Given the description of an element on the screen output the (x, y) to click on. 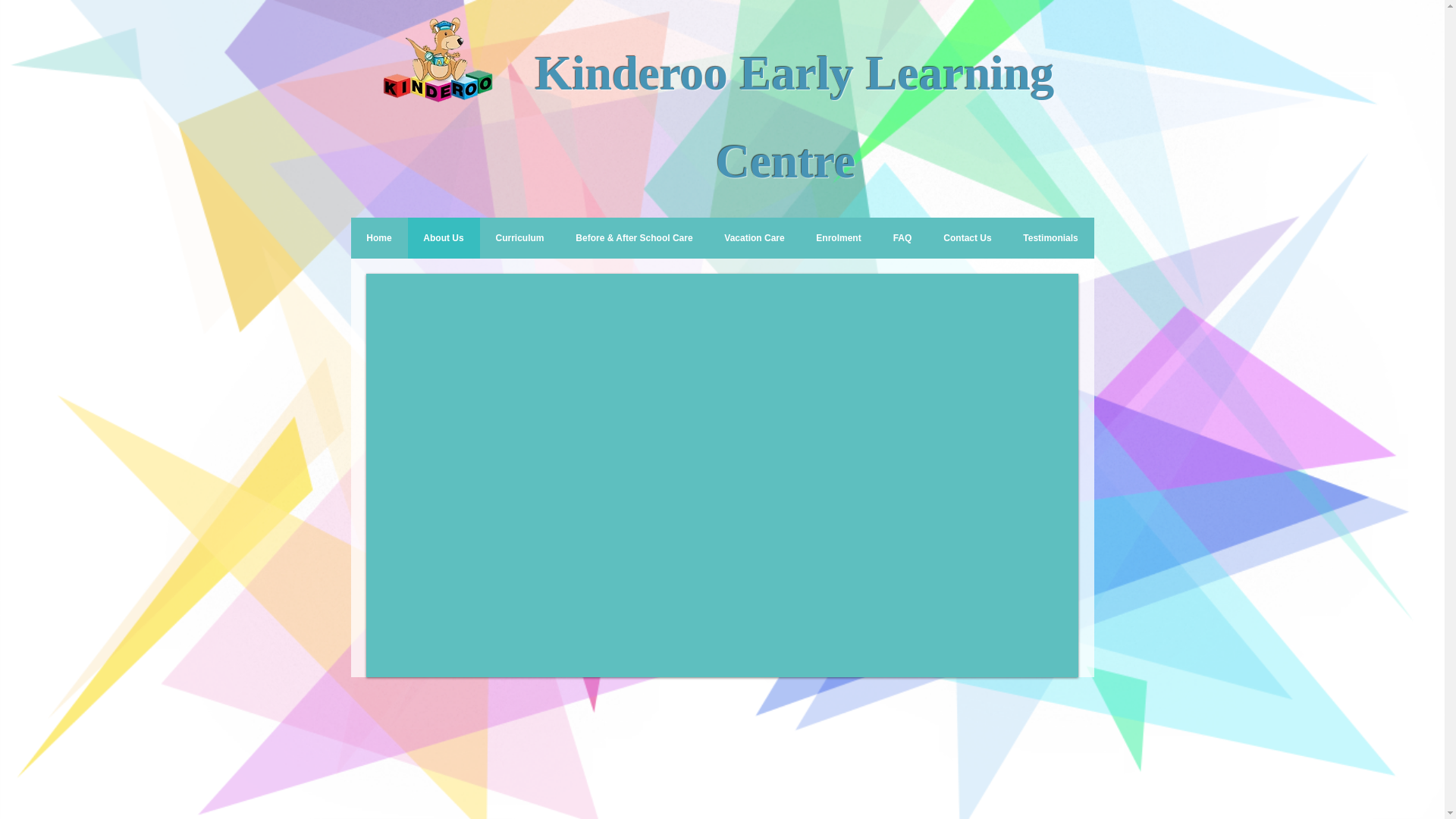
Vacation Care Element type: text (754, 237)
Home Element type: text (378, 237)
Curriculum Element type: text (519, 237)
FAQ Element type: text (901, 237)
About Us Element type: text (443, 237)
Kinderoo Element type: text (630, 73)
Contact Us Element type: text (967, 237)
Testimonials Element type: text (1050, 237)
Enrolment Element type: text (838, 237)
Before & After School Care Element type: text (633, 237)
